Given the description of an element on the screen output the (x, y) to click on. 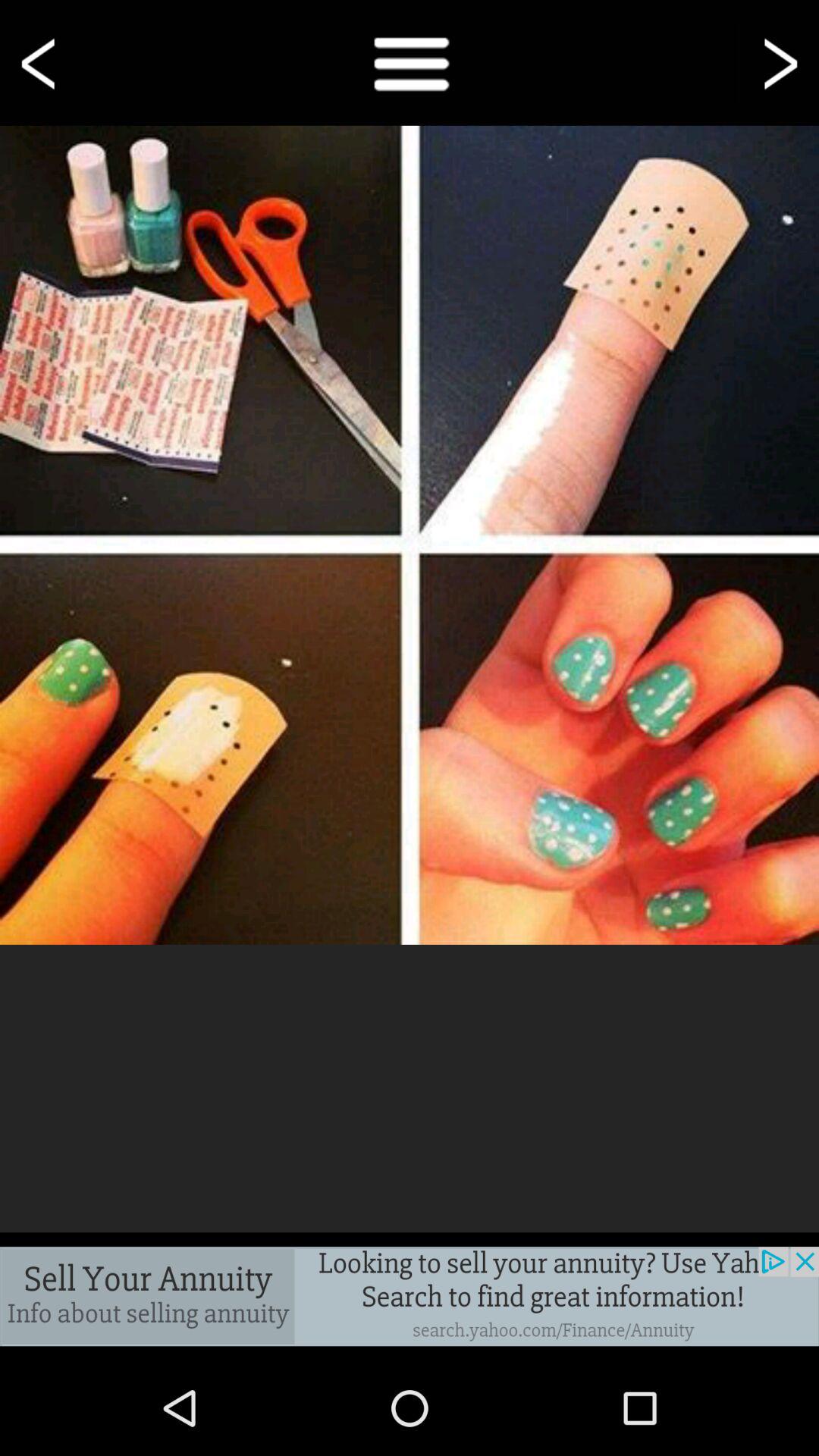
nail polish images (409, 534)
